Given the description of an element on the screen output the (x, y) to click on. 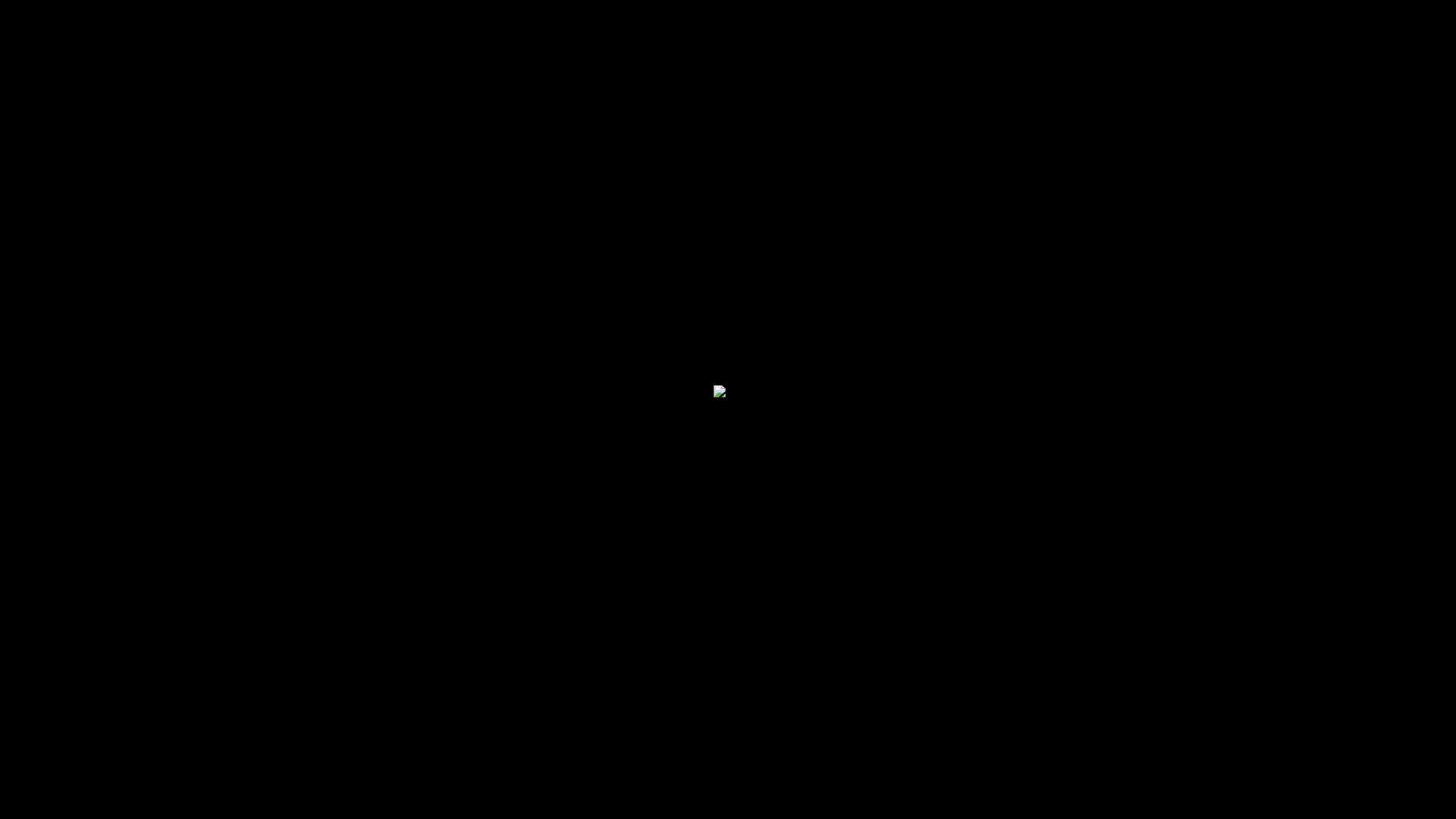
MOTO Element type: text (778, 50)
Commercial Division Element type: text (642, 49)
Shopping cart Element type: text (1216, 50)
ACCESSORIES Element type: text (984, 50)
User menu Element type: text (1188, 50)
INFO Element type: text (1093, 50)
$0.00
ADD TO CART Element type: text (1013, 744)
SNOW Element type: text (870, 50)
